Given the description of an element on the screen output the (x, y) to click on. 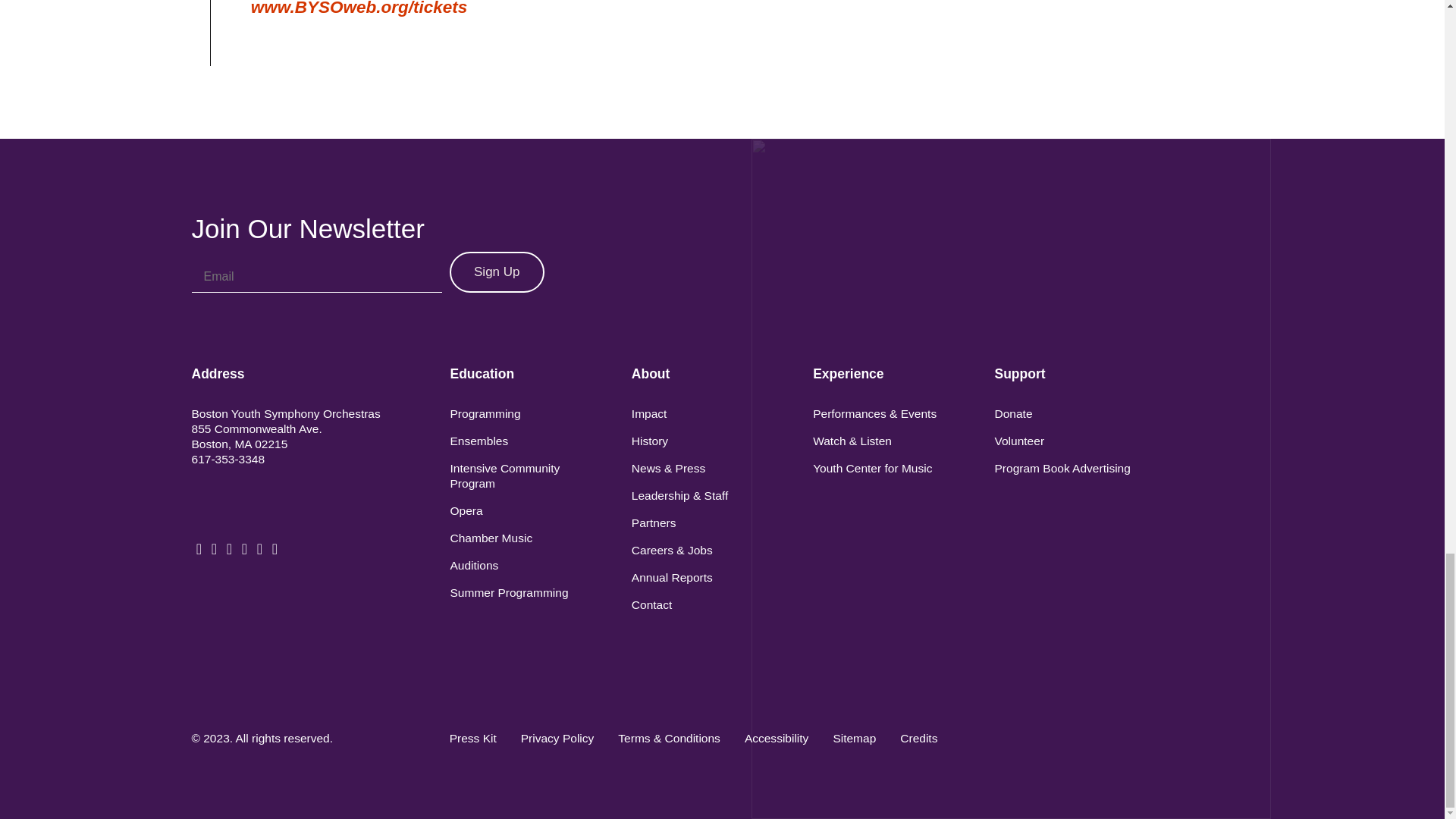
Sign Up (496, 271)
